Given the description of an element on the screen output the (x, y) to click on. 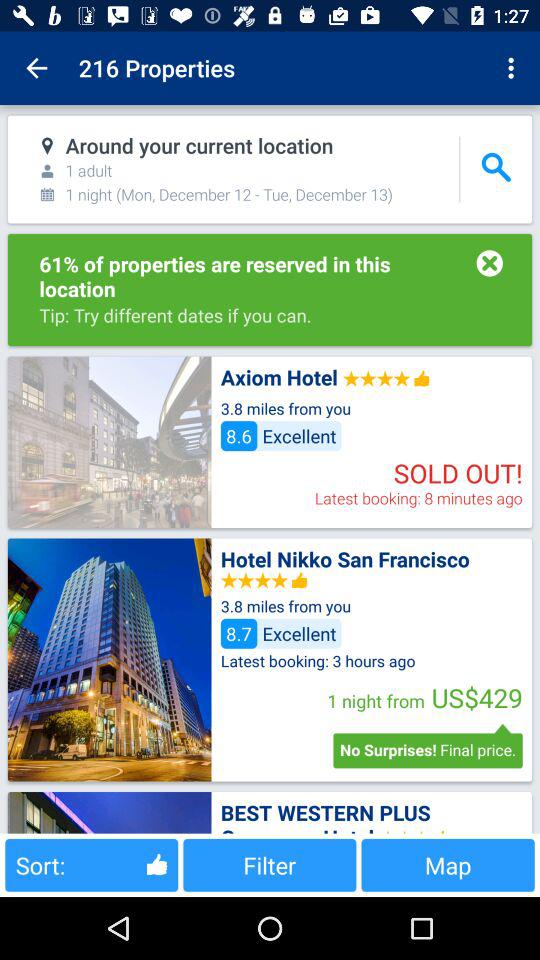
tap map button (447, 864)
